Given the description of an element on the screen output the (x, y) to click on. 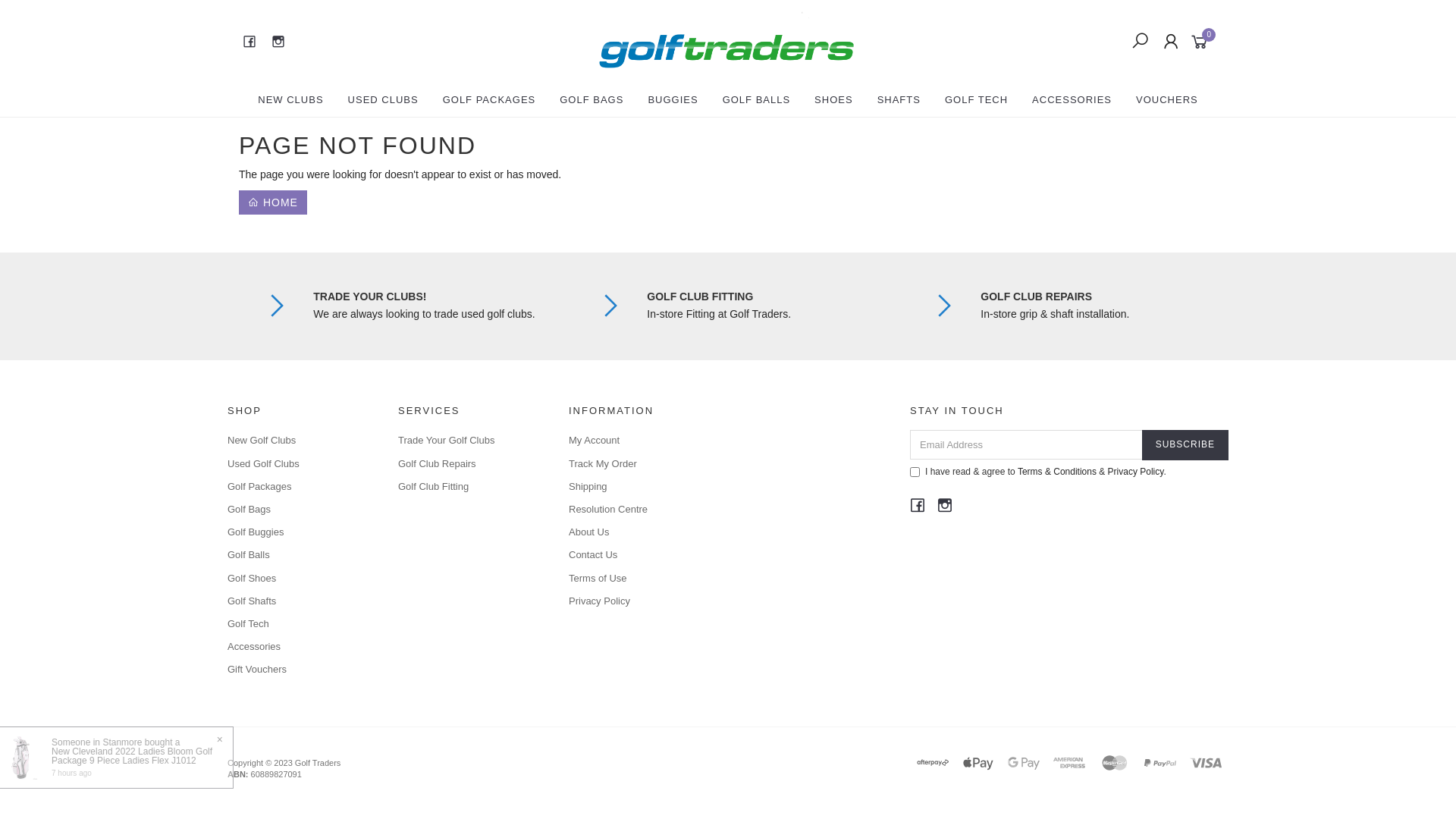
Golf Club Fitting Element type: text (466, 486)
Privacy Policy Element type: text (636, 600)
SHAFTS Element type: text (898, 99)
Trade Your Golf Clubs Element type: text (466, 440)
GOLF BALLS Element type: text (756, 99)
GOLF PACKAGES Element type: text (489, 99)
ACCESSORIES Element type: text (1071, 99)
Terms & Conditions Element type: text (1056, 471)
Subscribe Element type: text (1185, 444)
Golf Balls Element type: text (295, 554)
SHOES Element type: text (833, 99)
Shipping Element type: text (636, 486)
Golf Tech Element type: text (295, 623)
Golf Packages Element type: text (295, 486)
Golf Buggies Element type: text (295, 531)
GOLF TECH Element type: text (976, 99)
Resolution Centre Element type: text (636, 509)
HOME Element type: text (272, 202)
Track My Order Element type: text (636, 463)
My Account Element type: text (636, 440)
GOLF BAGS Element type: text (591, 99)
Golf Bags Element type: text (295, 509)
NEW CLUBS Element type: text (290, 99)
BUGGIES Element type: text (672, 99)
Golf Club Repairs Element type: text (466, 463)
Golf Shoes Element type: text (295, 578)
GOLF CLUB FITTING
In-store Fitting at Golf Traders. Element type: text (759, 305)
Golf Shafts Element type: text (295, 600)
Gift Vouchers Element type: text (295, 669)
Accessories Element type: text (295, 646)
USED CLUBS Element type: text (383, 99)
Contact Us Element type: text (636, 554)
About Us Element type: text (636, 531)
GOLF CLUB REPAIRS
In-store grip & shaft installation. Element type: text (1093, 305)
0 Element type: text (1202, 40)
Golf Traders Element type: hover (726, 40)
Privacy Policy Element type: text (1135, 471)
VOUCHERS Element type: text (1166, 99)
New Golf Clubs Element type: text (295, 440)
Terms of Use Element type: text (636, 578)
Used Golf Clubs Element type: text (295, 463)
